Given the description of an element on the screen output the (x, y) to click on. 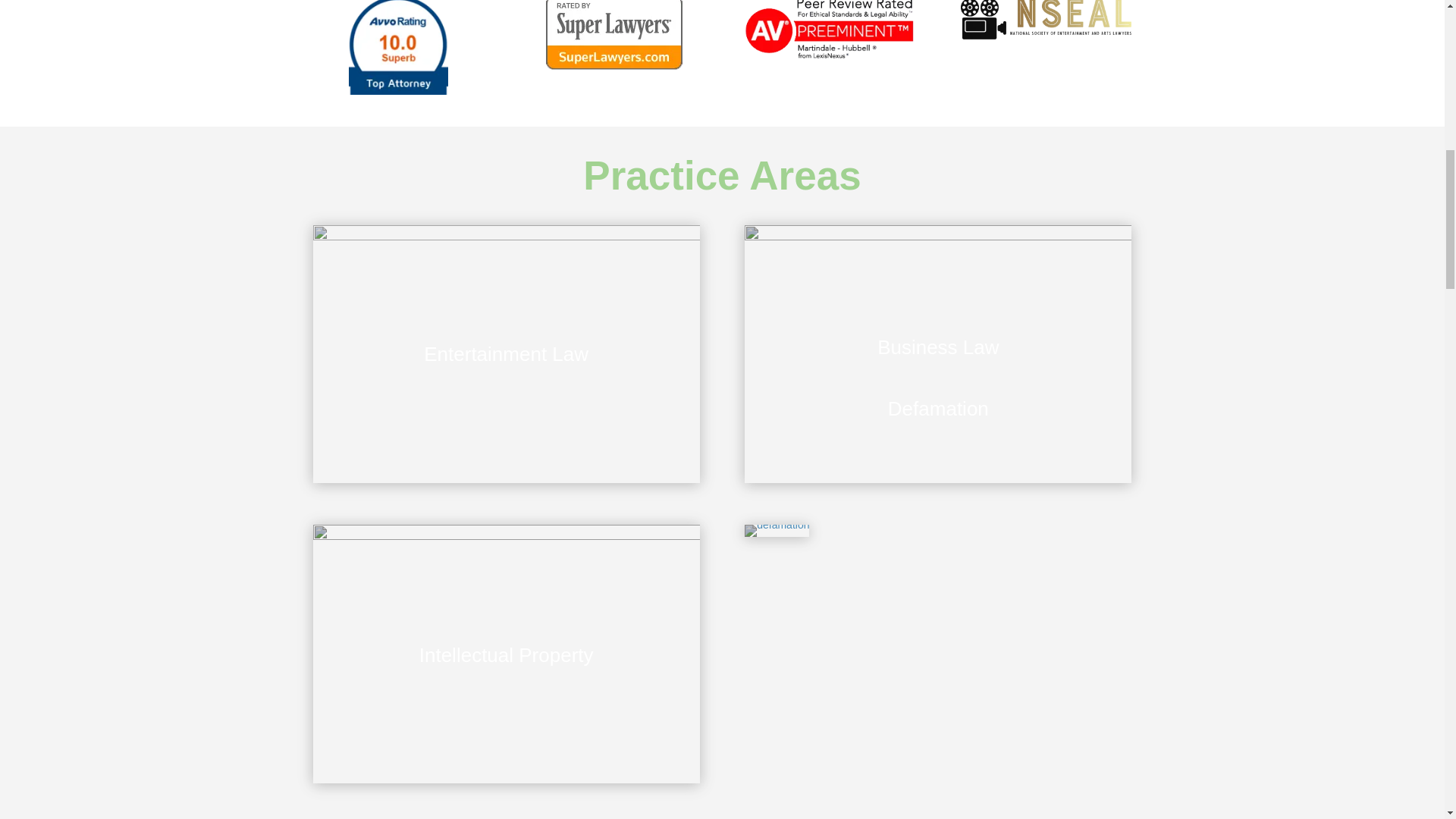
Business Decision (505, 653)
AvvoLogoAlt (398, 47)
lo2-new (614, 34)
lo3-new (829, 30)
defamation lawyer los angeles (776, 530)
studio microphone in neon lights. sound recording equipment (505, 354)
